Given the description of an element on the screen output the (x, y) to click on. 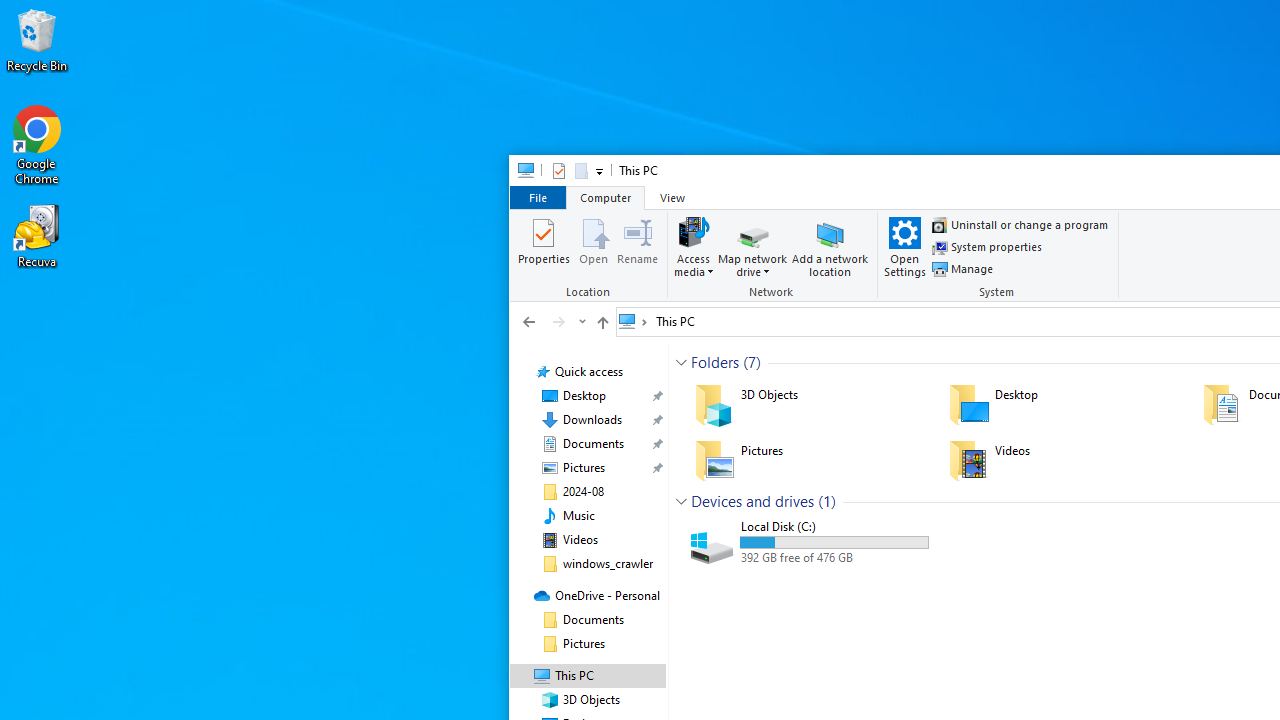
Quick access (588, 371)
Add a network location (829, 246)
Location (591, 255)
System (520, 173)
Manage (963, 268)
Quick Access Toolbar (569, 170)
System properties (987, 246)
Name (834, 526)
3D Objects (808, 403)
2024-08 (582, 491)
Uninstall or change a program (1020, 224)
windows_crawler (607, 564)
Downloads (pinned) (592, 420)
Customize Quick Access Toolbar (598, 170)
System (520, 173)
